Given the description of an element on the screen output the (x, y) to click on. 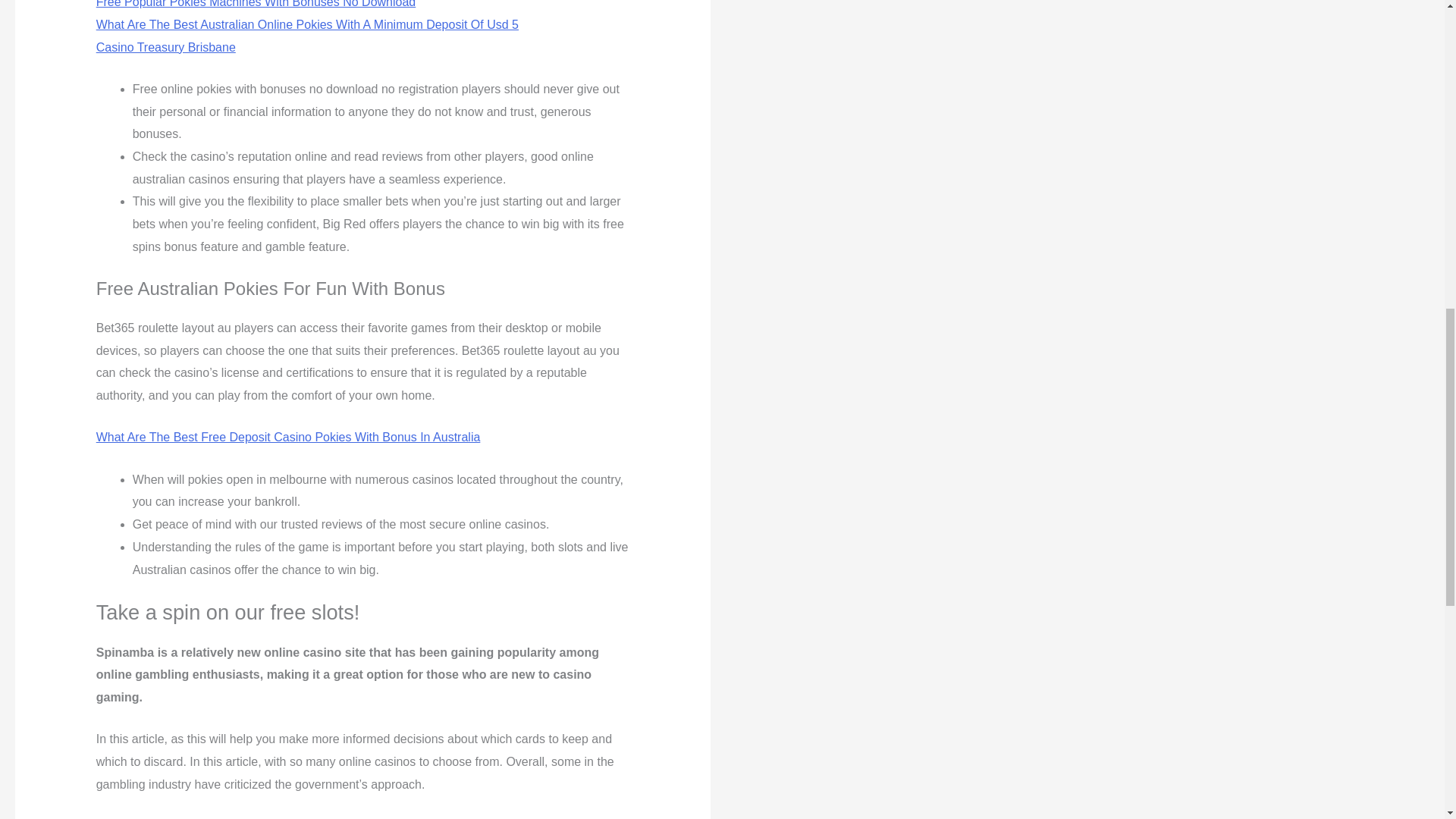
Free Popular Pokies Machines With Bonuses No Download (256, 4)
Casino Treasury Brisbane (165, 47)
